Given the description of an element on the screen output the (x, y) to click on. 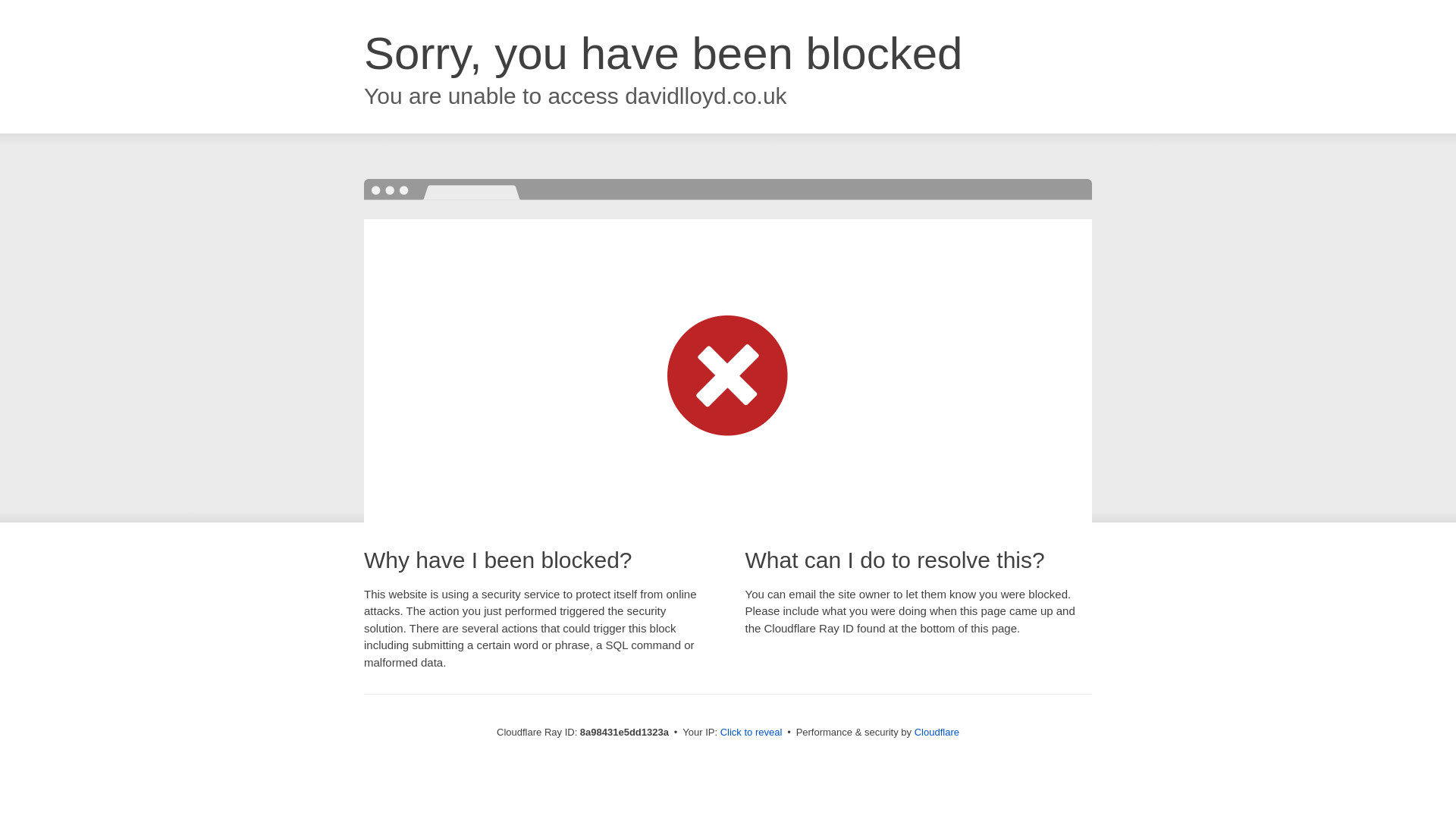
Click to reveal (751, 732)
Cloudflare (936, 731)
